Given the description of an element on the screen output the (x, y) to click on. 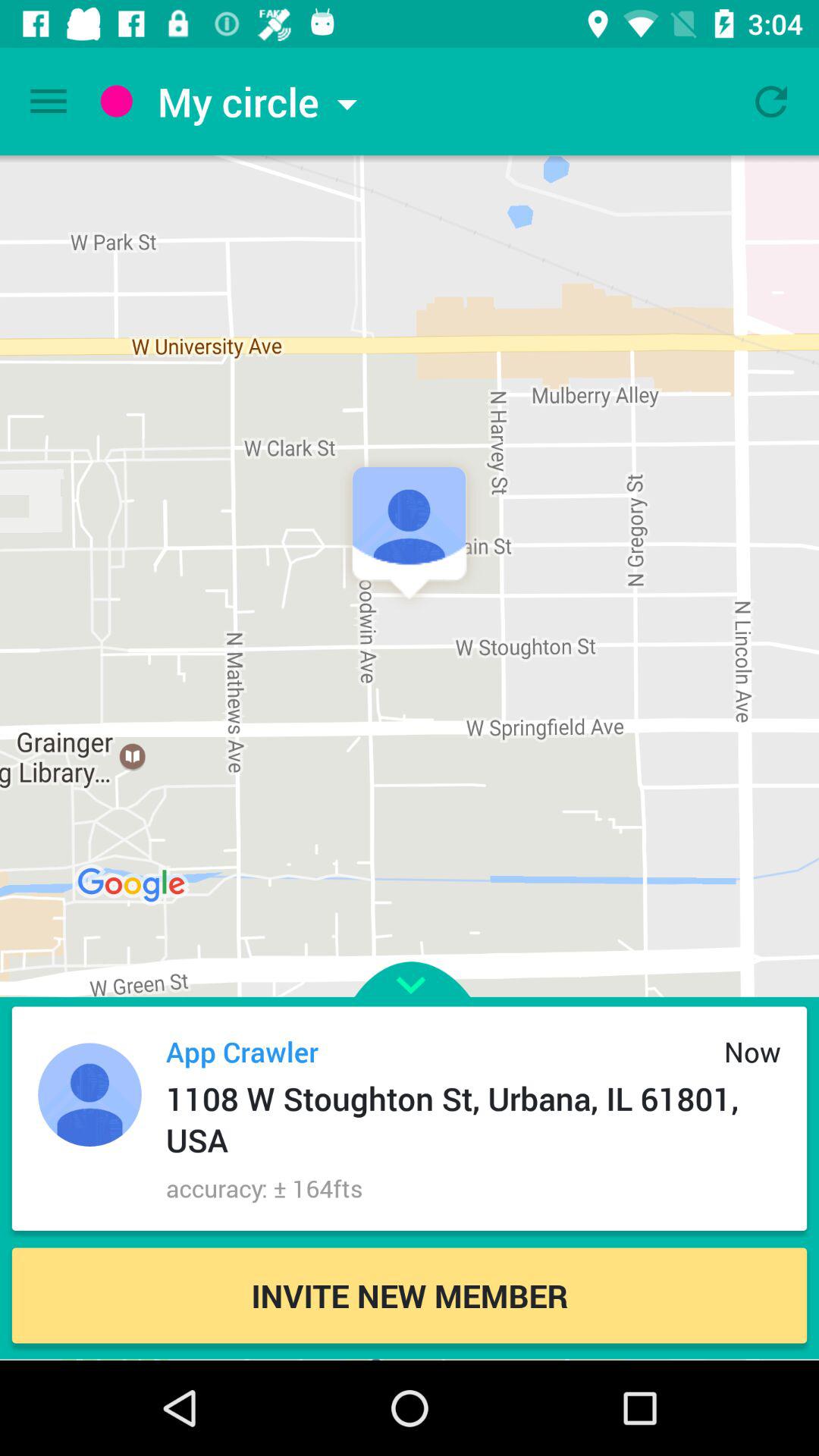
refresh the page (771, 101)
